Given the description of an element on the screen output the (x, y) to click on. 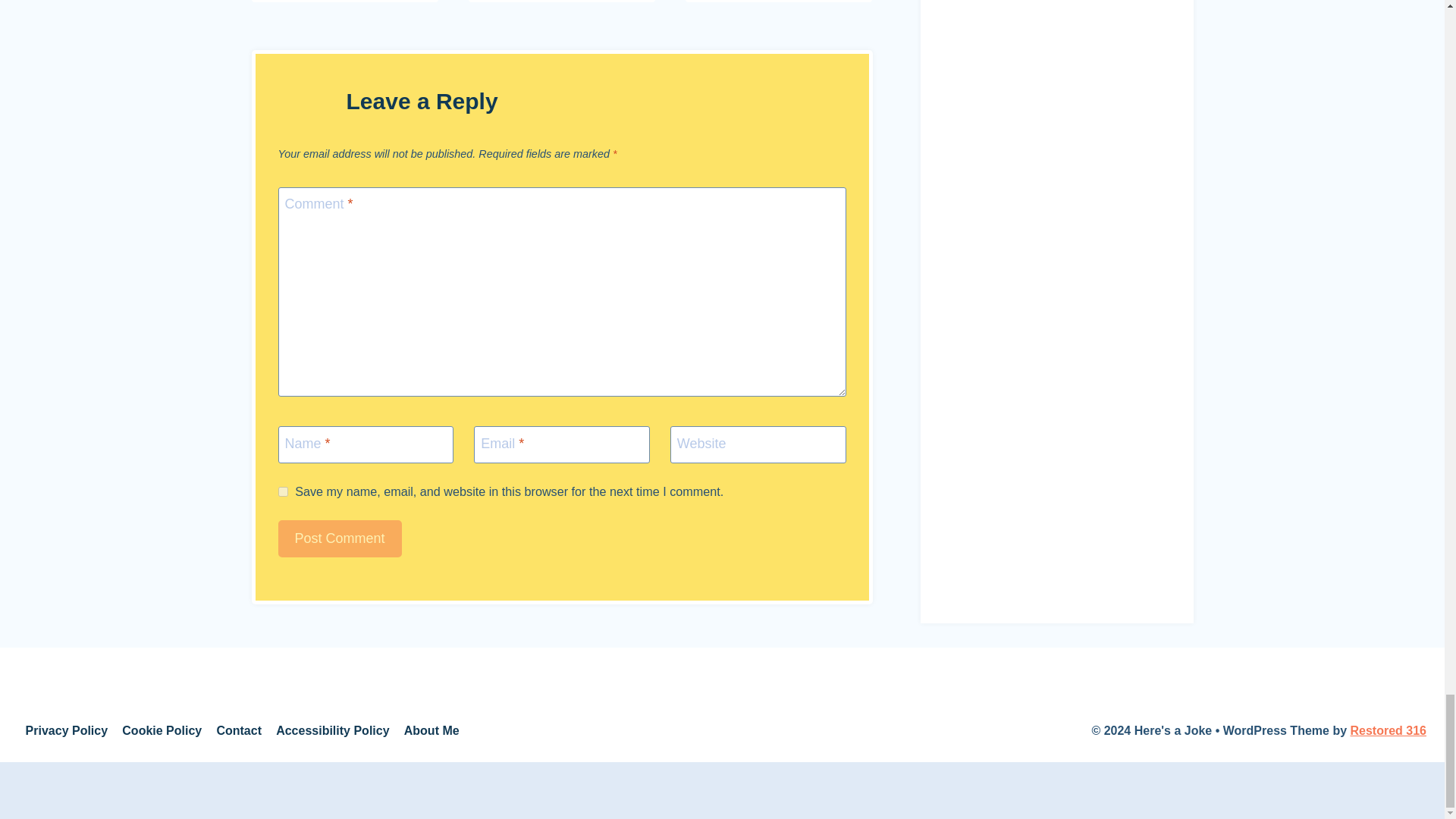
yes (282, 491)
Post Comment (339, 538)
